Given the description of an element on the screen output the (x, y) to click on. 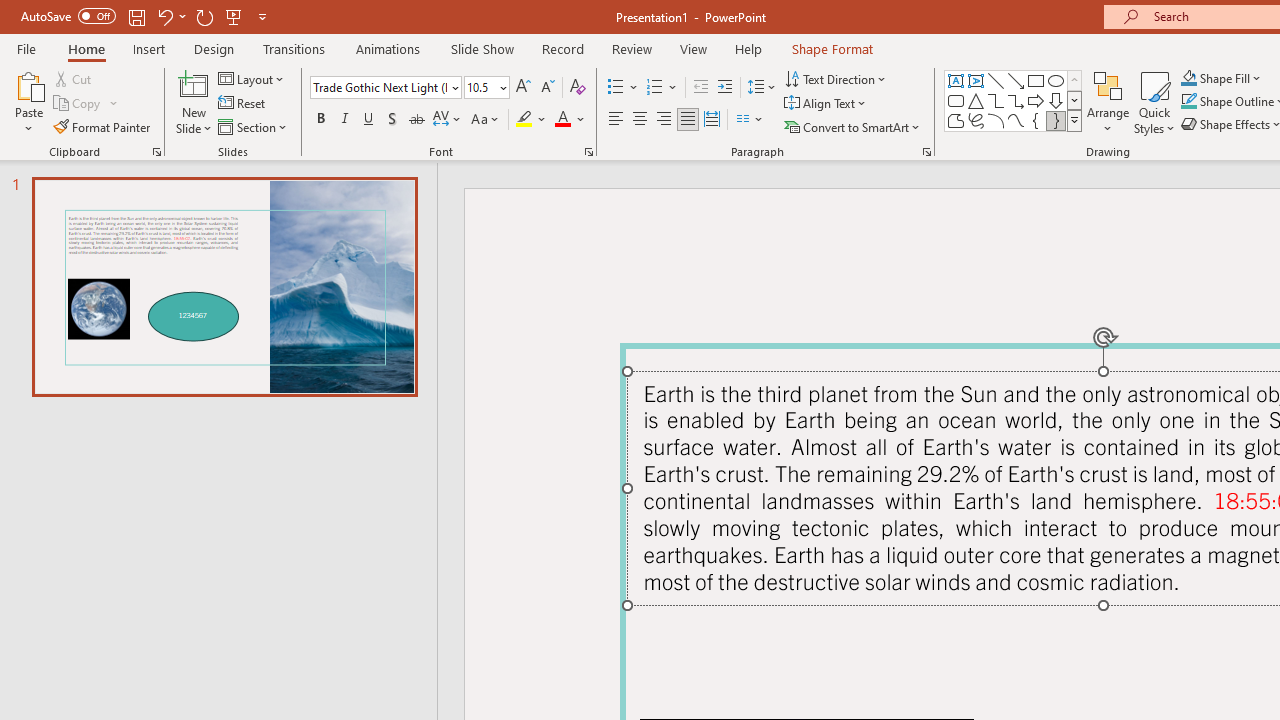
Rectangle: Rounded Corners (955, 100)
Decrease Indent (700, 87)
Underline (369, 119)
Format Painter (103, 126)
